Given the description of an element on the screen output the (x, y) to click on. 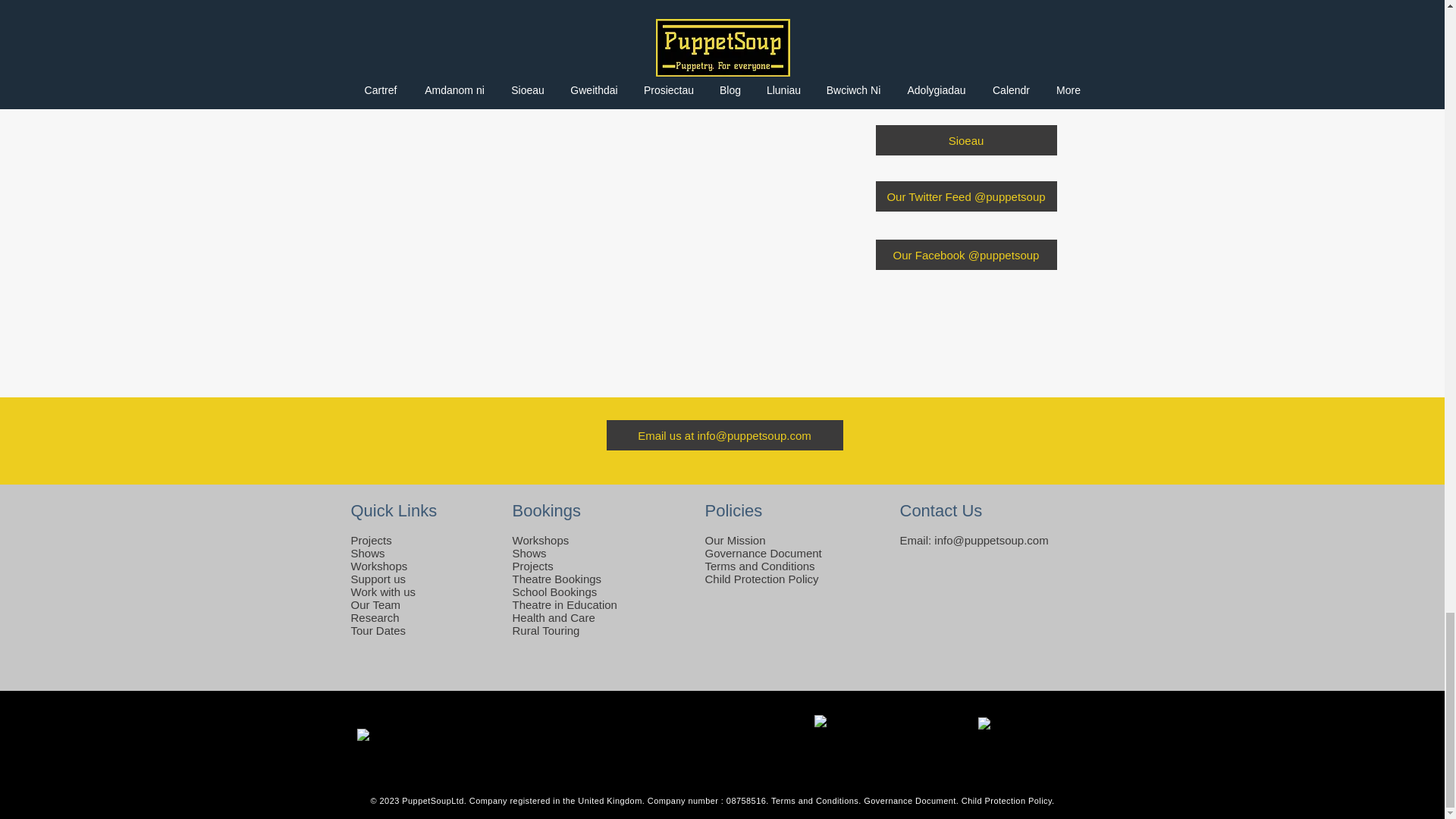
Sioeau (966, 140)
Tour Dates (378, 630)
Projects (370, 540)
Governance Document (763, 553)
Research (374, 617)
Theatre in Education (564, 604)
Shows (367, 553)
Prosiectau (966, 81)
Theatre Bookings (557, 578)
Workshops (540, 540)
Child Protection Policy (761, 578)
Gweithdai (966, 23)
Our Mission (734, 540)
Support us (378, 578)
Work with us (382, 591)
